Given the description of an element on the screen output the (x, y) to click on. 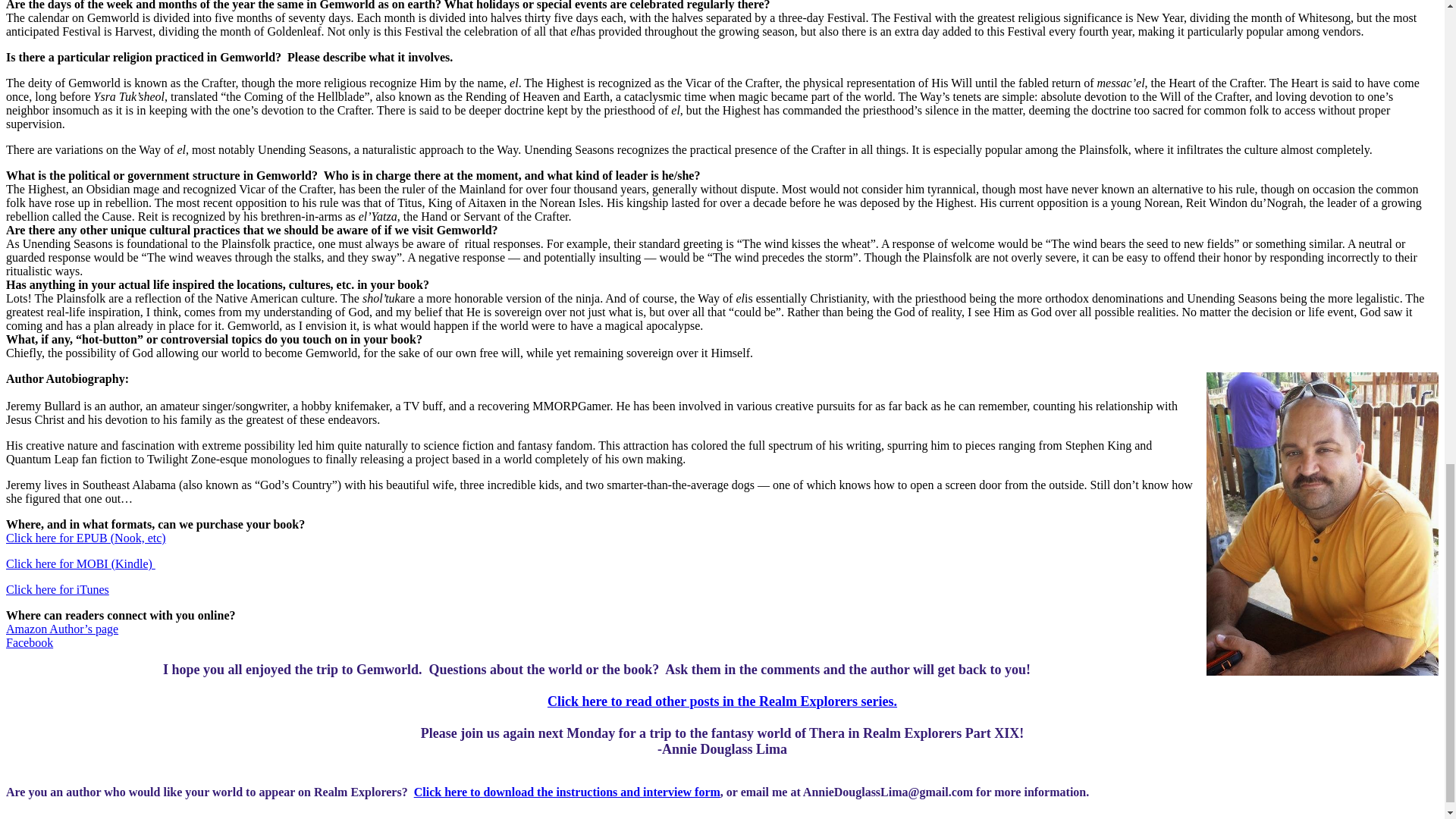
Click here to download the instructions and interview form (566, 791)
Click here for iTunes (57, 589)
Facebook (28, 642)
